Given the description of an element on the screen output the (x, y) to click on. 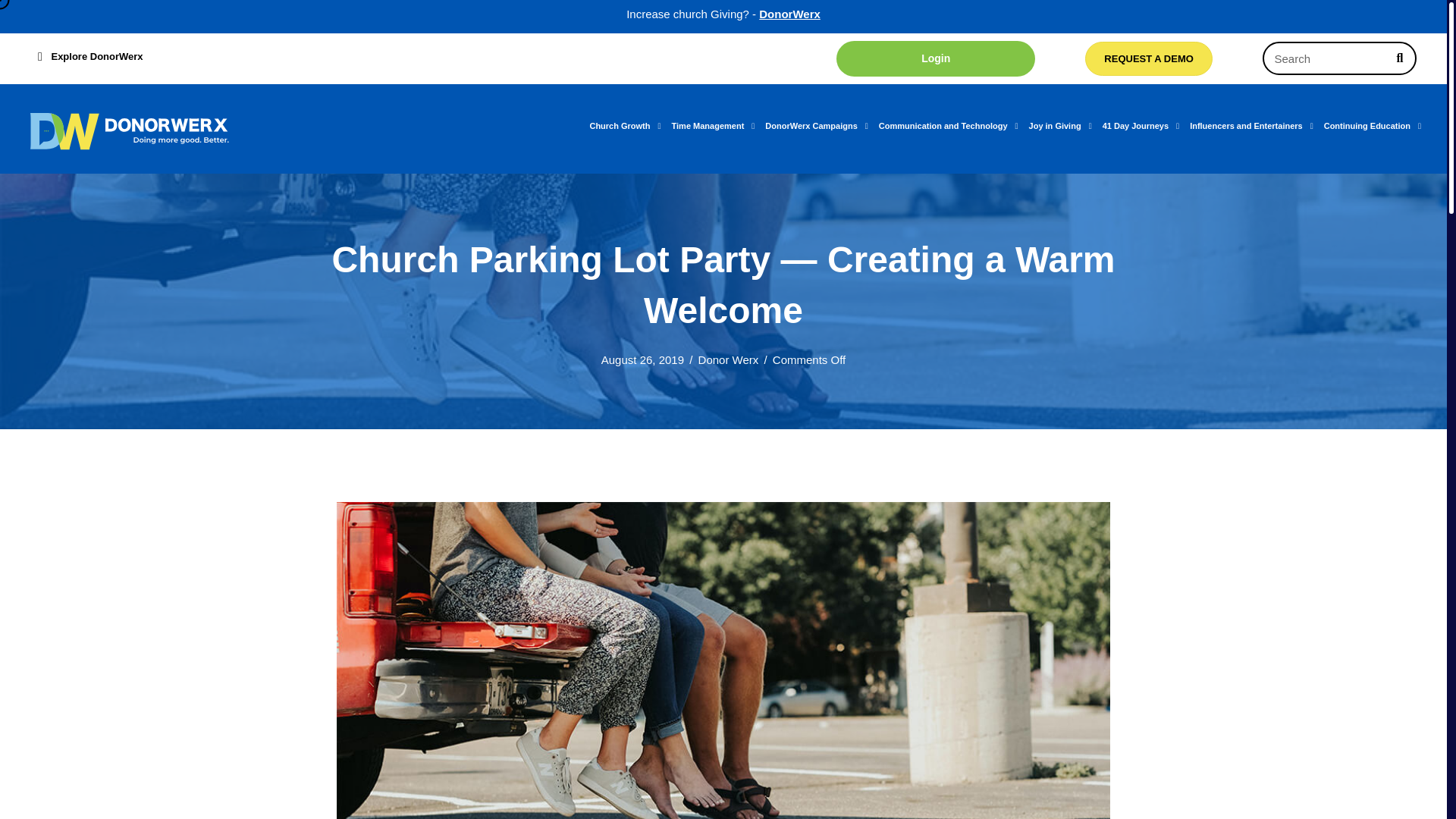
DonorWerx (789, 13)
41 Day Journeys (1145, 126)
Login (936, 58)
REQUEST A DEMO (1148, 58)
donor-logo (131, 130)
DonorWerx Campaigns (821, 126)
Time Management (718, 126)
Joy in Giving (1065, 126)
Search (1323, 58)
Communication and Technology (954, 126)
